Given the description of an element on the screen output the (x, y) to click on. 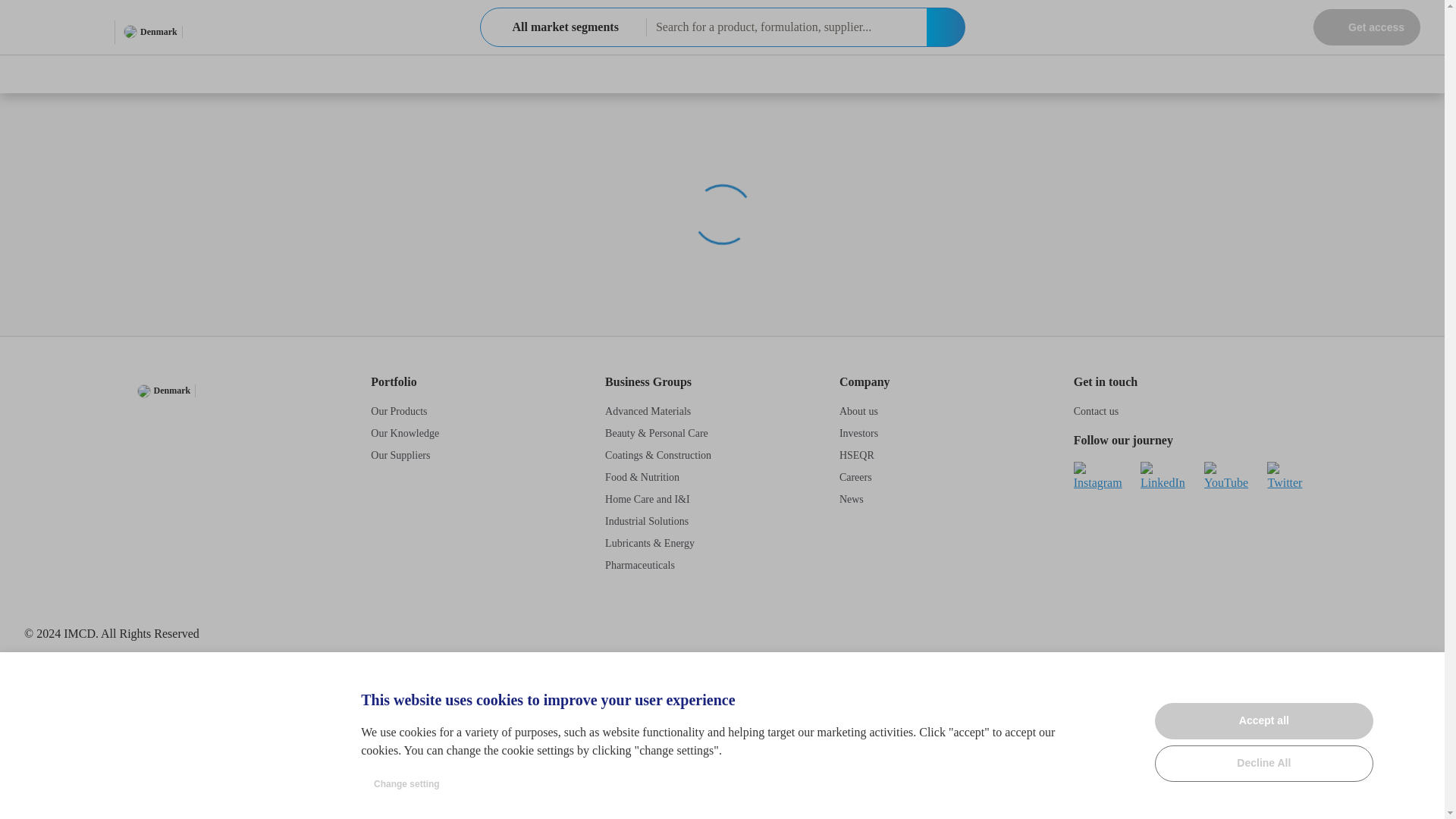
Get access (1367, 27)
Our Products (398, 410)
Our Knowledge (405, 432)
Advanced Materials (647, 410)
Our Suppliers (400, 455)
Decline All (1263, 763)
Pharmaceuticals (640, 564)
About us (858, 410)
Accept all (1263, 720)
Search (944, 27)
Denmark (163, 390)
Industrial Solutions (646, 521)
Denmark (150, 31)
Change setting (406, 784)
